Given the description of an element on the screen output the (x, y) to click on. 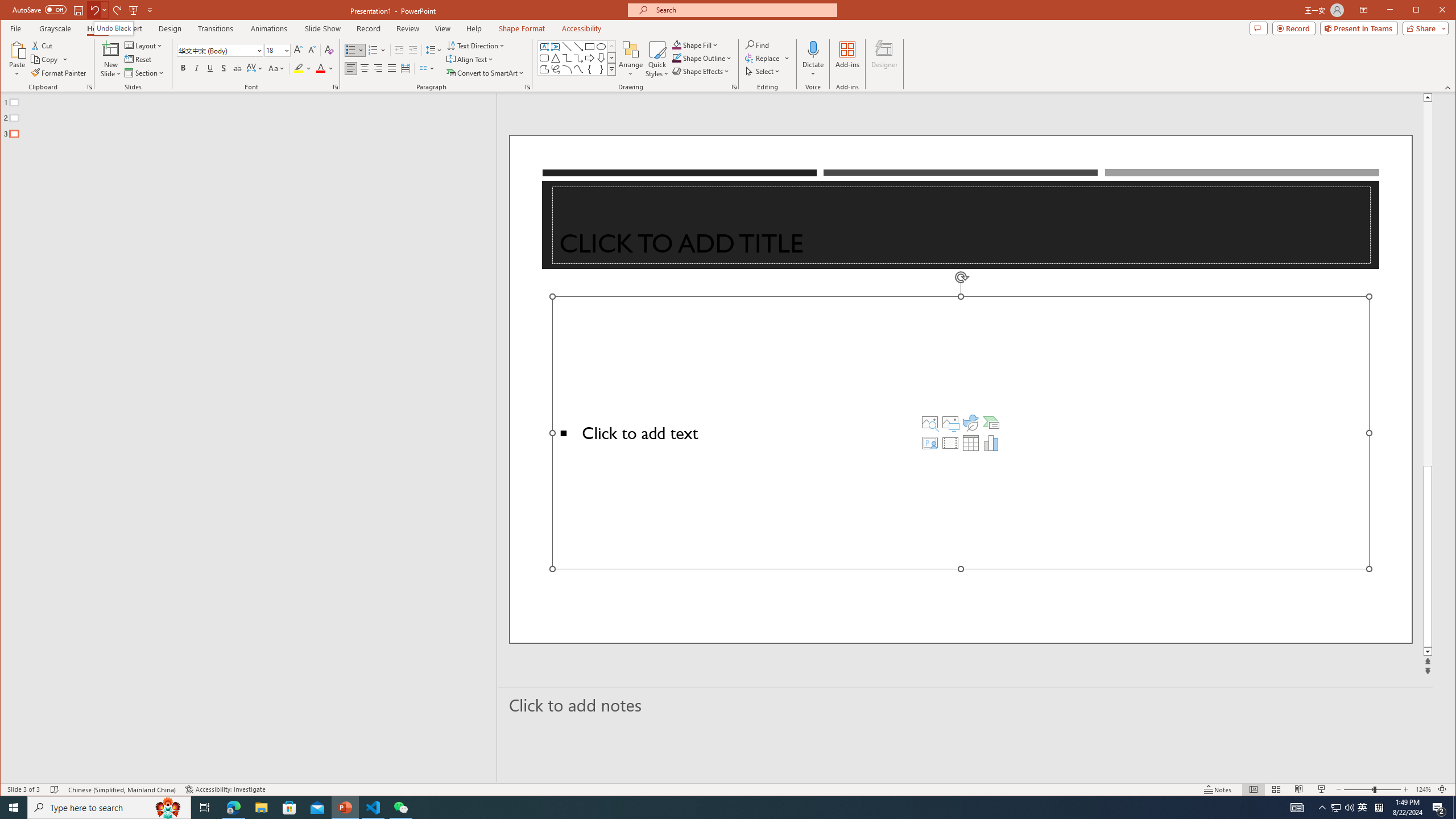
Shape Fill (695, 44)
Decrease Font Size (311, 49)
Slide Notes (965, 704)
New Slide (110, 59)
Search highlights icon opens search home window (167, 807)
Connector: Elbow Arrow (577, 57)
Bullets (355, 49)
Replace... (763, 57)
Vertical Text Box (556, 46)
Open (285, 50)
Arc (567, 69)
